Given the description of an element on the screen output the (x, y) to click on. 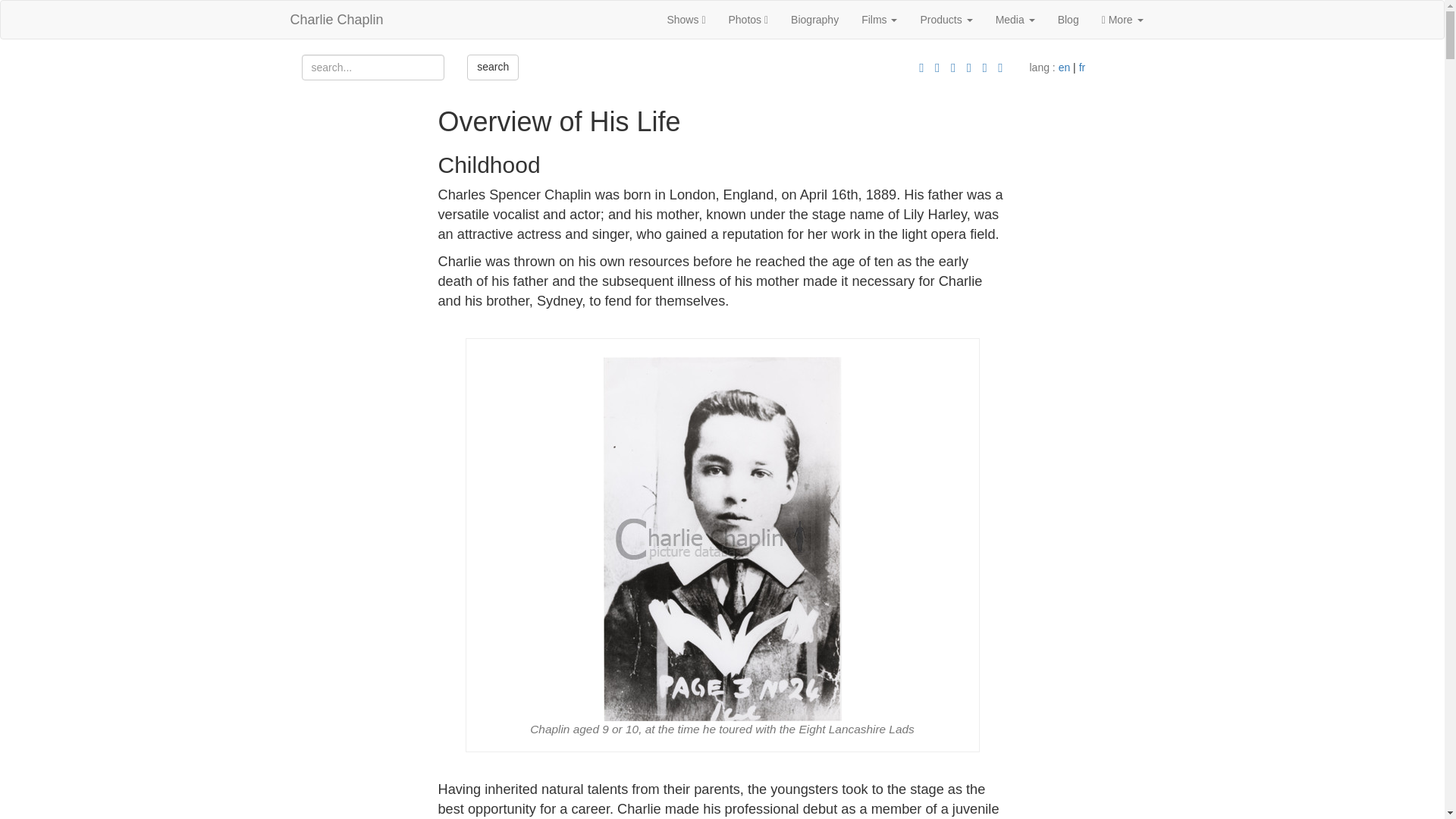
en (1064, 67)
translation missing: it.menu.shows (682, 19)
Media (1015, 19)
More (1122, 19)
translation missing: it.menu.products (940, 19)
translation missing: it.menu.biography (814, 19)
Films (879, 19)
Products (946, 19)
Shows (685, 19)
Blog (1068, 19)
